Given the description of an element on the screen output the (x, y) to click on. 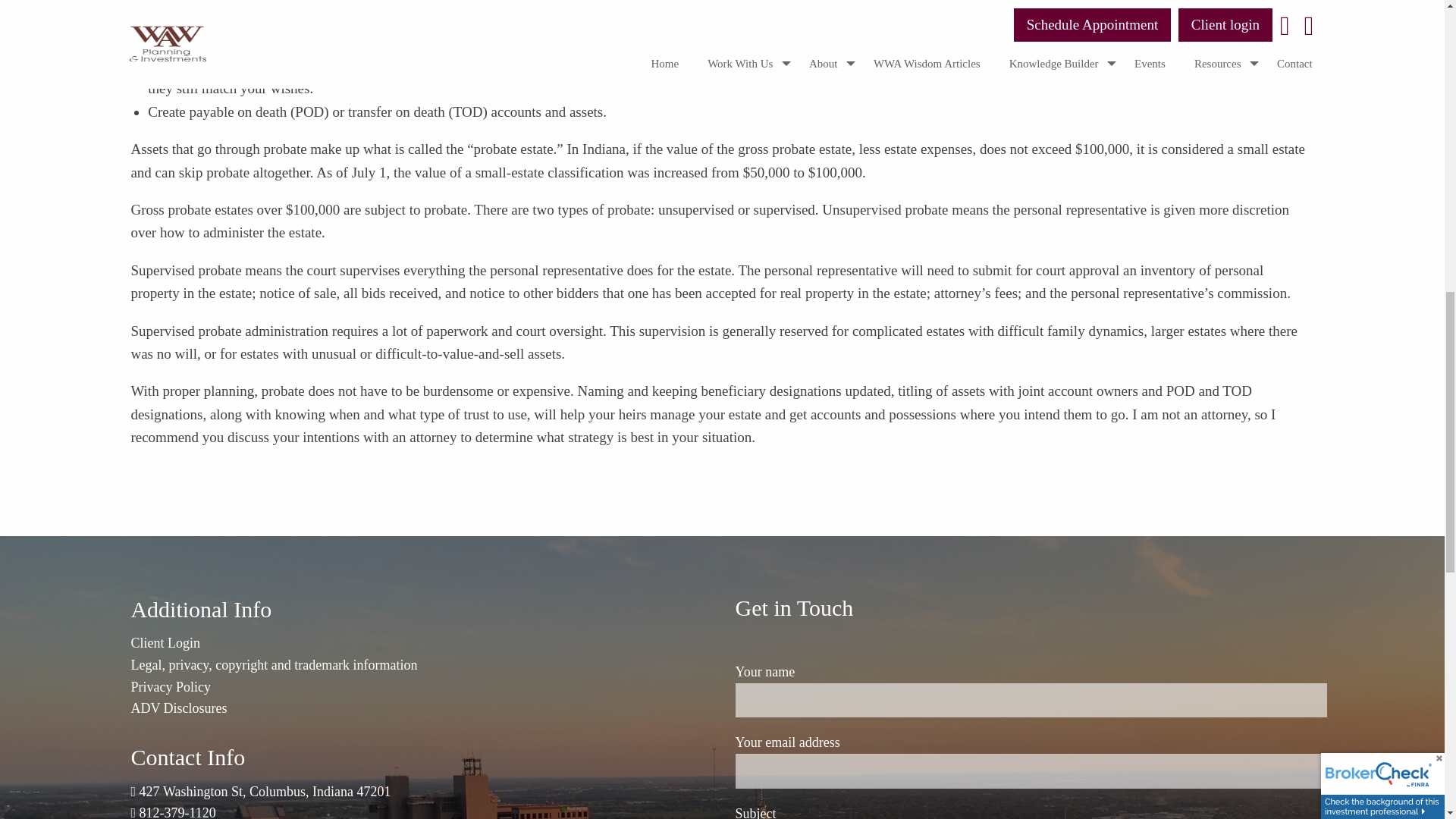
Client Login (165, 642)
Legal, privacy, copyright and trademark information (273, 664)
ADV Disclosures (179, 708)
Client Login (165, 642)
Legal, privacy, copyright and trademark information (273, 664)
812-379-1120 (176, 812)
Privacy Policy (171, 686)
